Given the description of an element on the screen output the (x, y) to click on. 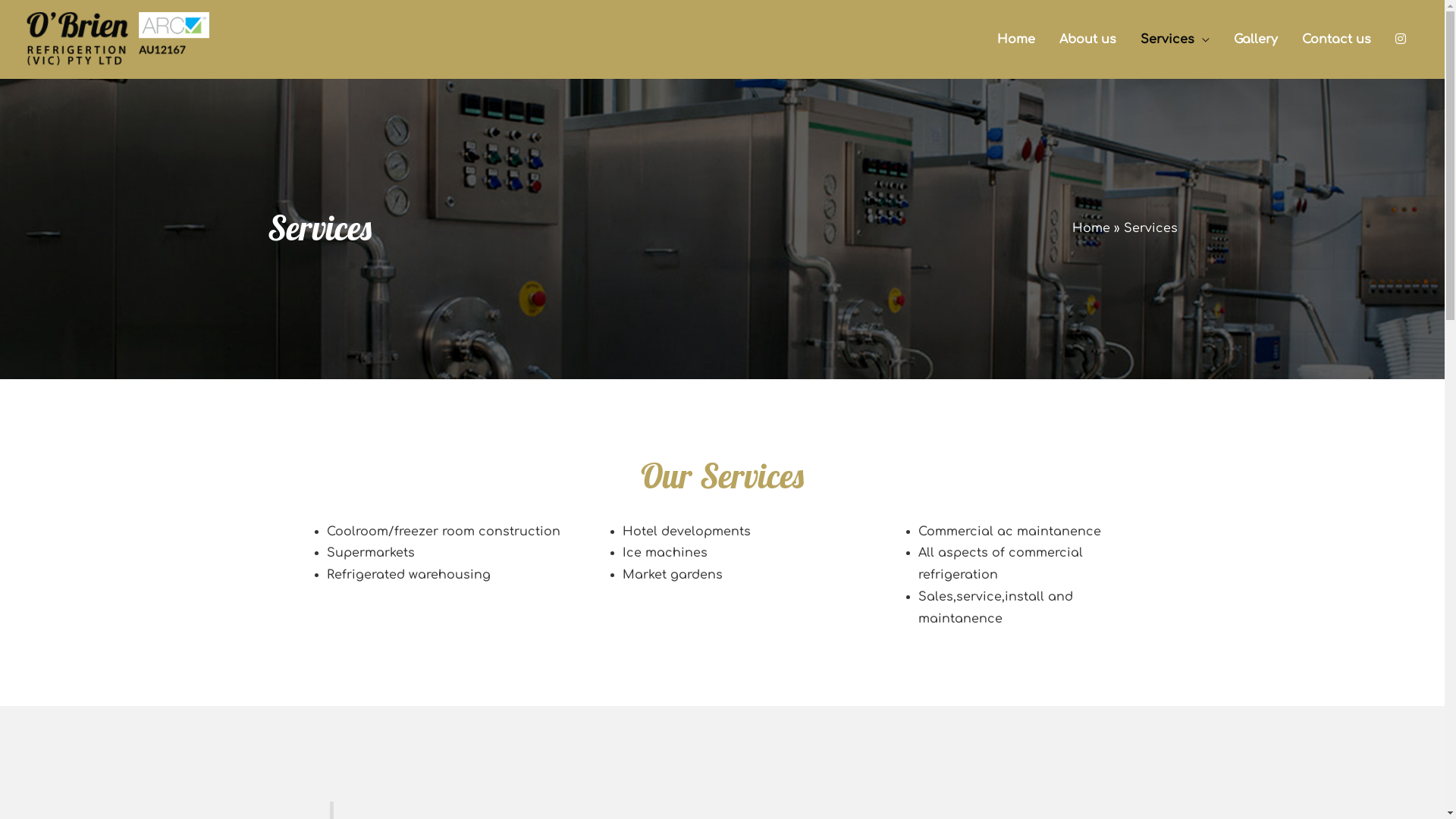
Services Element type: text (1174, 39)
About us Element type: text (1087, 39)
Gallery Element type: text (1255, 39)
Home Element type: text (1016, 39)
Home Element type: text (1091, 228)
Contact us Element type: text (1336, 39)
